Given the description of an element on the screen output the (x, y) to click on. 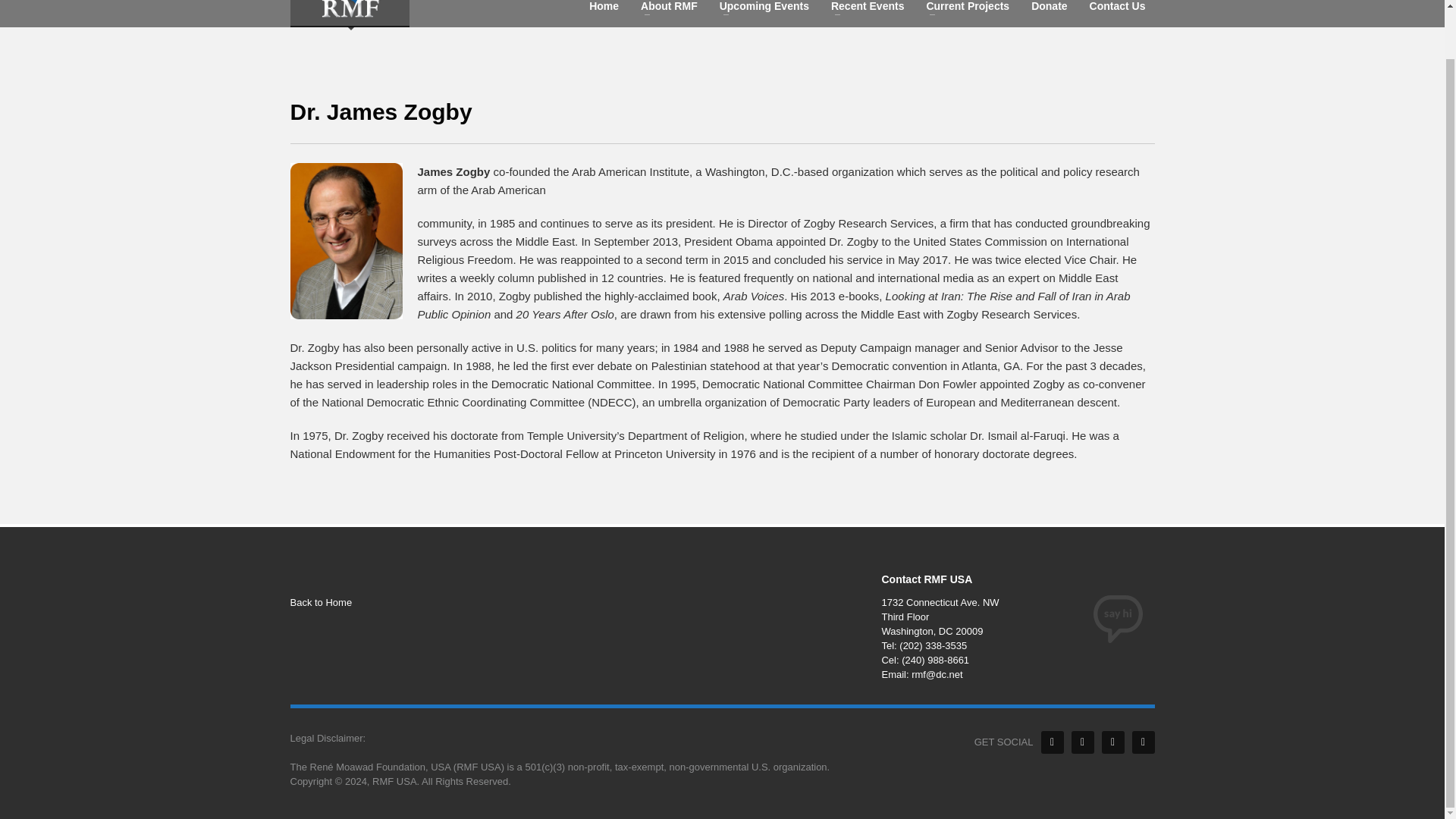
Upcoming Events (764, 7)
Recent Events (867, 7)
Youtube (1142, 742)
Instagram (1112, 742)
Current Projects (967, 7)
Promoting Social and Rural Development (349, 12)
About RMF (668, 7)
Home (603, 7)
Donate (1048, 7)
Twitter (1081, 742)
Facebook (1051, 742)
Back to Home (425, 602)
Contact Us (1117, 7)
